Given the description of an element on the screen output the (x, y) to click on. 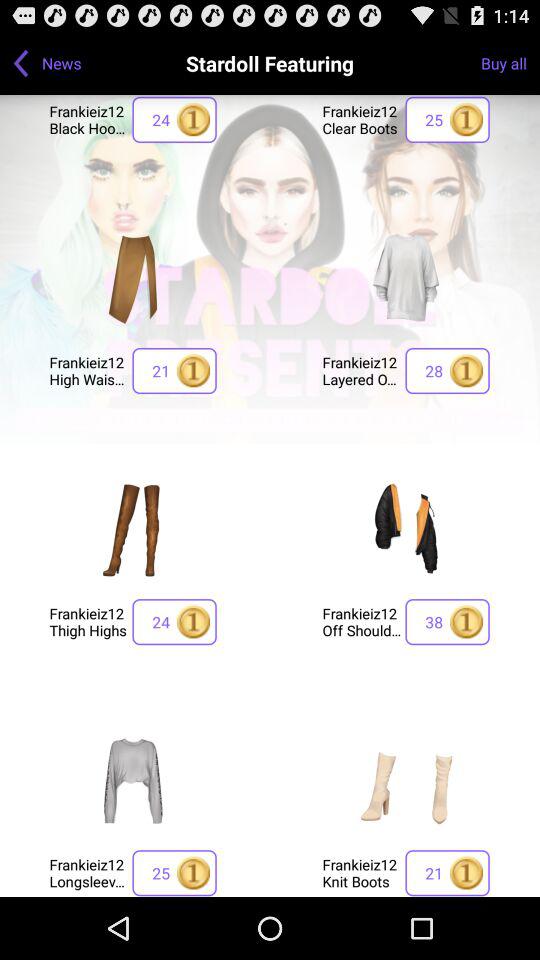
press button to the left of the 21 icon (88, 370)
